Given the description of an element on the screen output the (x, y) to click on. 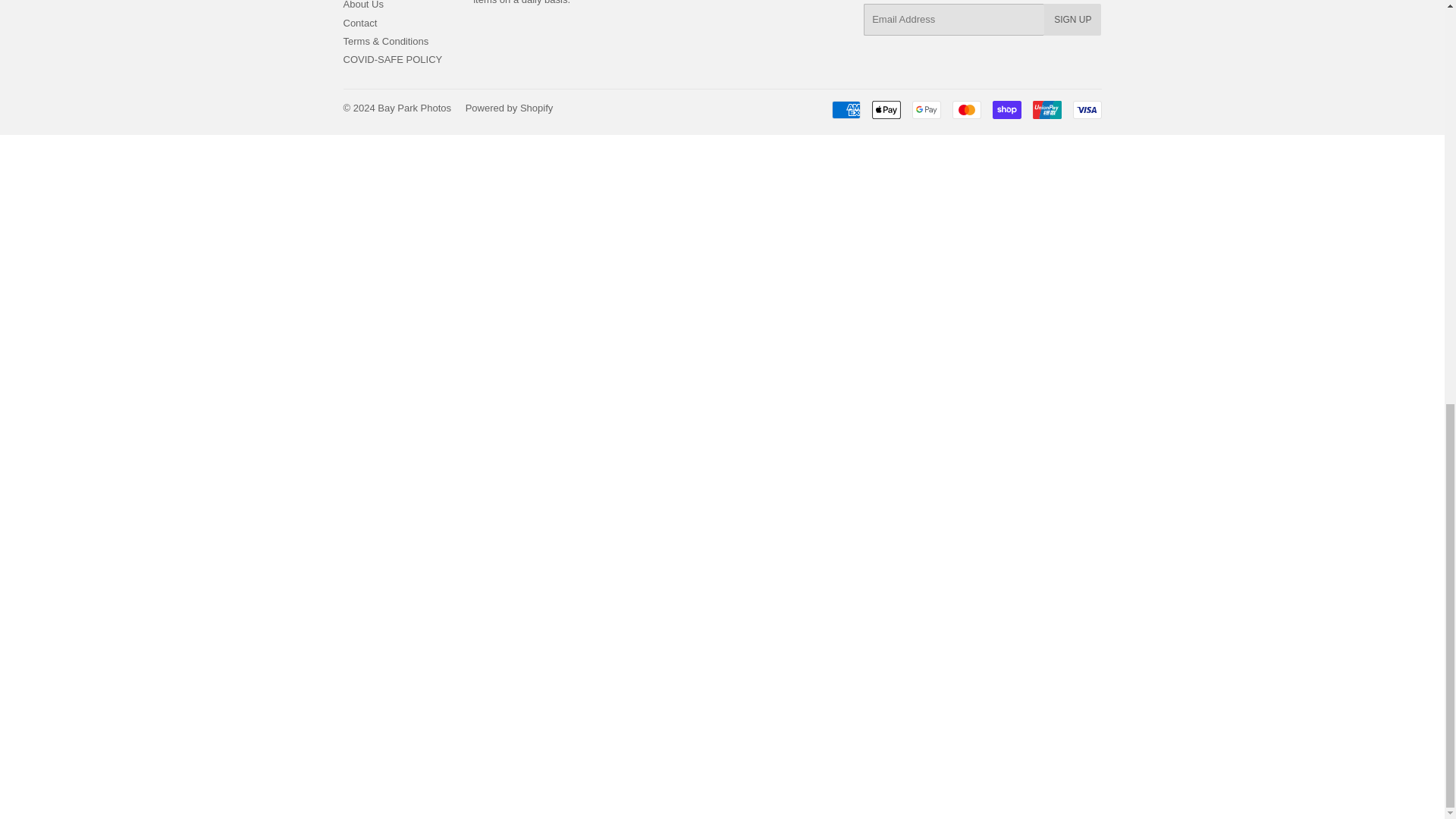
Visa (1085, 109)
Google Pay (925, 109)
Apple Pay (886, 109)
Union Pay (1046, 109)
American Express (845, 109)
Mastercard (966, 109)
Shop Pay (1005, 109)
